Given the description of an element on the screen output the (x, y) to click on. 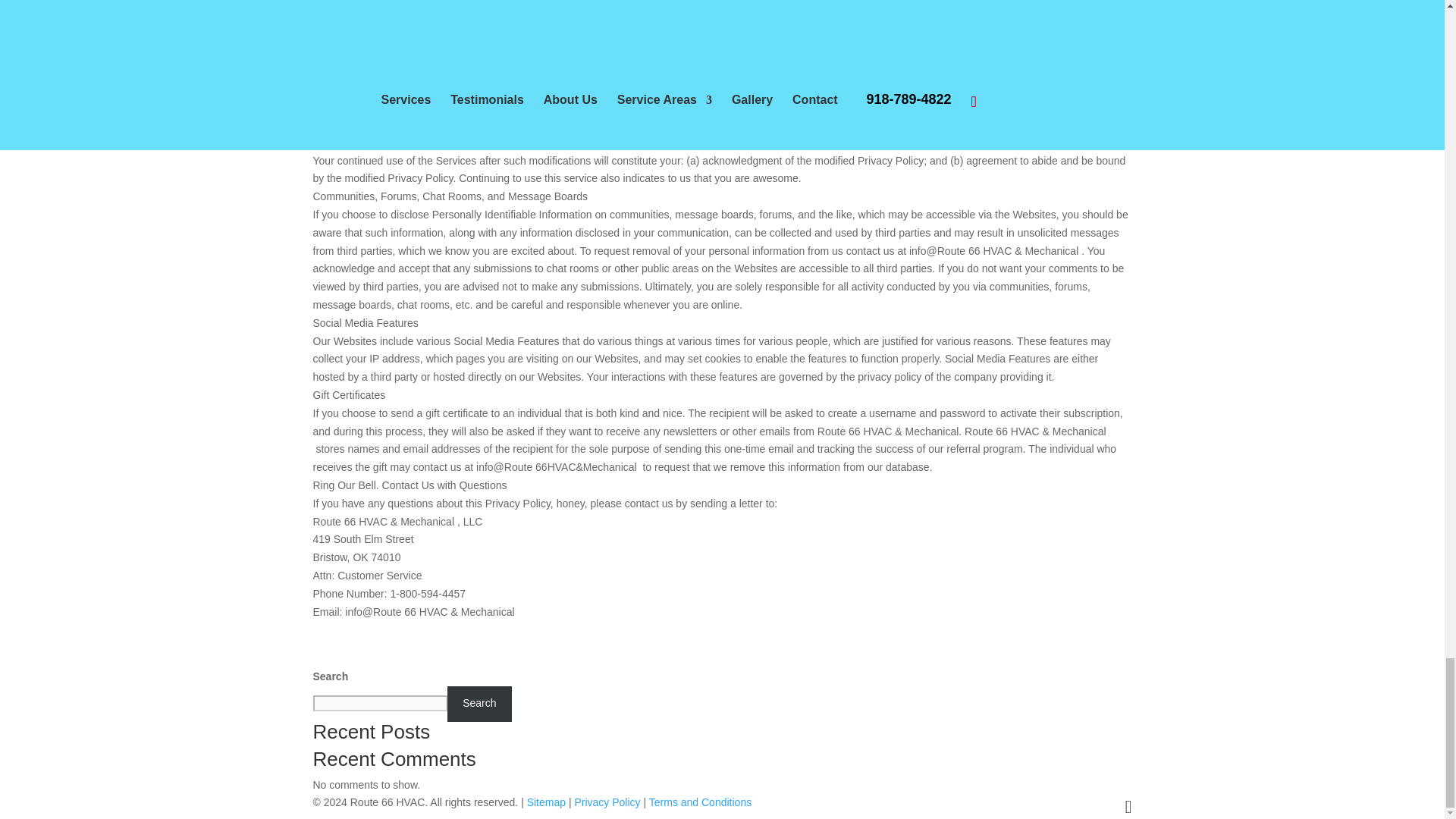
Privacy Policy (606, 802)
Sitemap (546, 802)
Search (479, 703)
Terms and Conditions (700, 802)
